Given the description of an element on the screen output the (x, y) to click on. 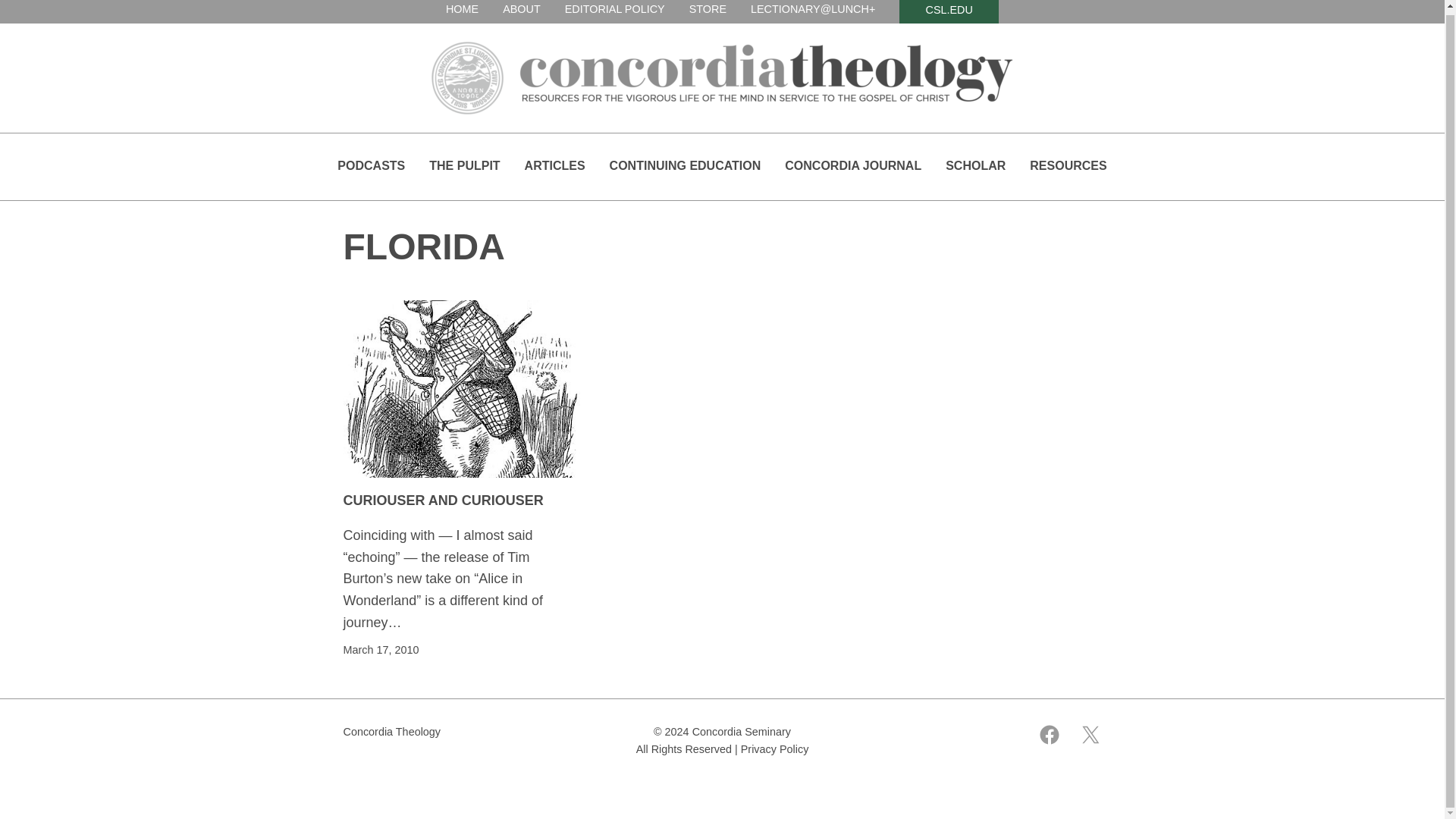
Facebook (1047, 734)
Concordia Seminary (741, 731)
SCHOLAR (975, 166)
ARTICLES (554, 166)
STORE (707, 9)
HOME (462, 9)
Concordia Theology (391, 731)
March 17, 2010 (380, 649)
Privacy Policy (775, 748)
EDITORIAL POLICY (614, 9)
CURIOUSER AND CURIOUSER (442, 501)
CONTINUING EDUCATION (685, 166)
THE PULPIT (464, 166)
CONCORDIA JOURNAL (852, 166)
PODCASTS (370, 166)
